Given the description of an element on the screen output the (x, y) to click on. 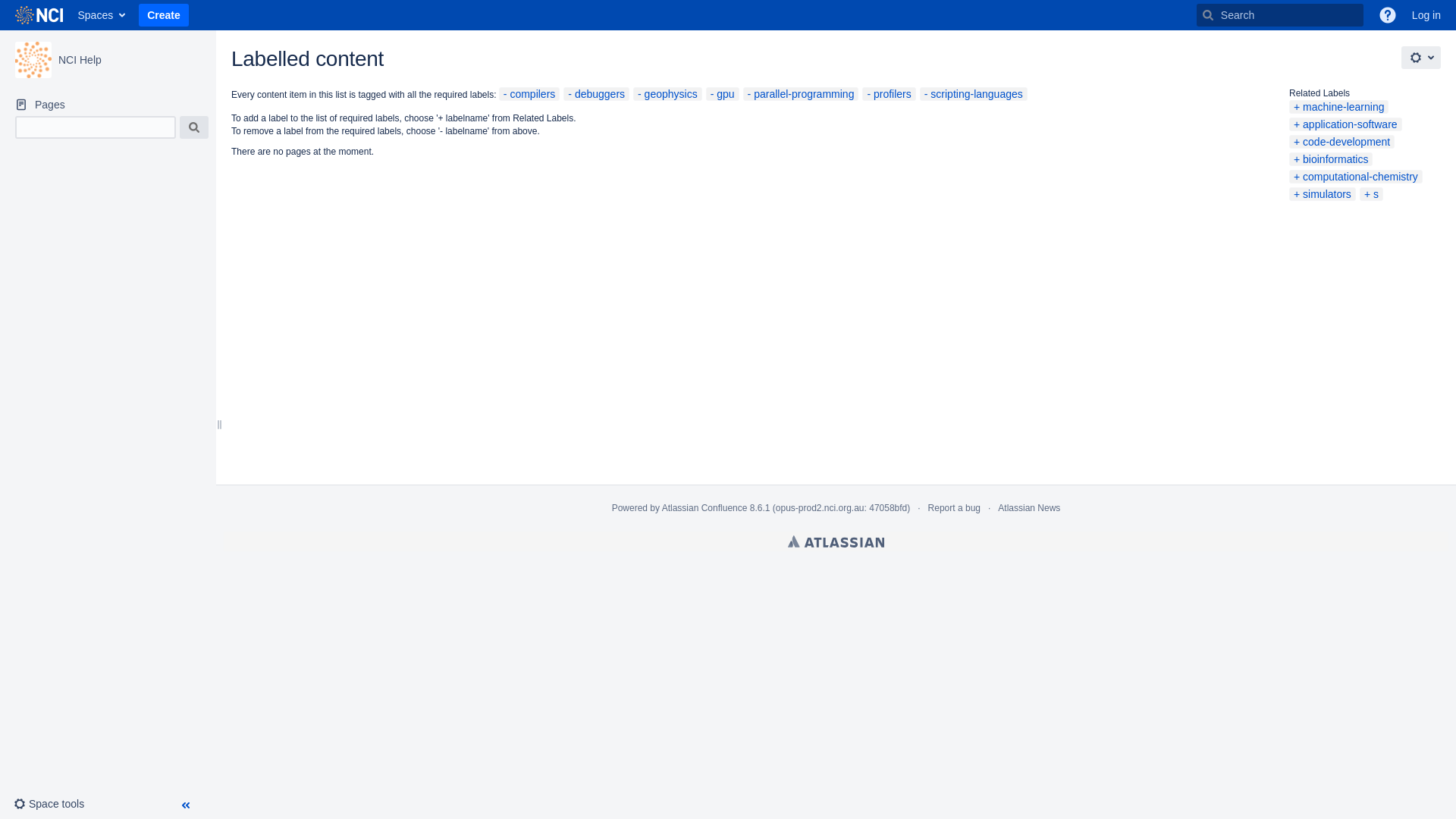
Atlassian News Element type: text (1028, 507)
geophysics Element type: text (667, 93)
parallel-programming Element type: text (800, 93)
Atlassian Element type: text (835, 541)
scripting-languages Element type: text (973, 93)
Create Element type: text (163, 14)
Settings Element type: text (1420, 57)
s Element type: text (1371, 194)
Spaces Element type: text (100, 15)
compilers Element type: text (529, 93)
Configure
Space tools Element type: text (54, 803)
gpu Element type: text (722, 93)
Help Element type: text (1387, 15)
machine-learning Element type: text (1338, 106)
NCI Help Element type: text (79, 59)
Pages Element type: text (107, 104)
profilers Element type: text (888, 93)
computational-chemistry Element type: text (1355, 176)
bioinformatics Element type: text (1330, 159)
debuggers Element type: text (595, 93)
NCI Help Element type: hover (33, 59)
Search Element type: text (193, 127)
 (Type 'g' then 'g'OR '/') Element type: hover (1279, 14)
code-development Element type: text (1341, 141)
simulators Element type: text (1322, 194)
Log in Element type: text (1426, 15)
Atlassian Confluence Element type: text (704, 507)
Report a bug Element type: text (954, 507)
application-software Element type: text (1345, 124)
